Given the description of an element on the screen output the (x, y) to click on. 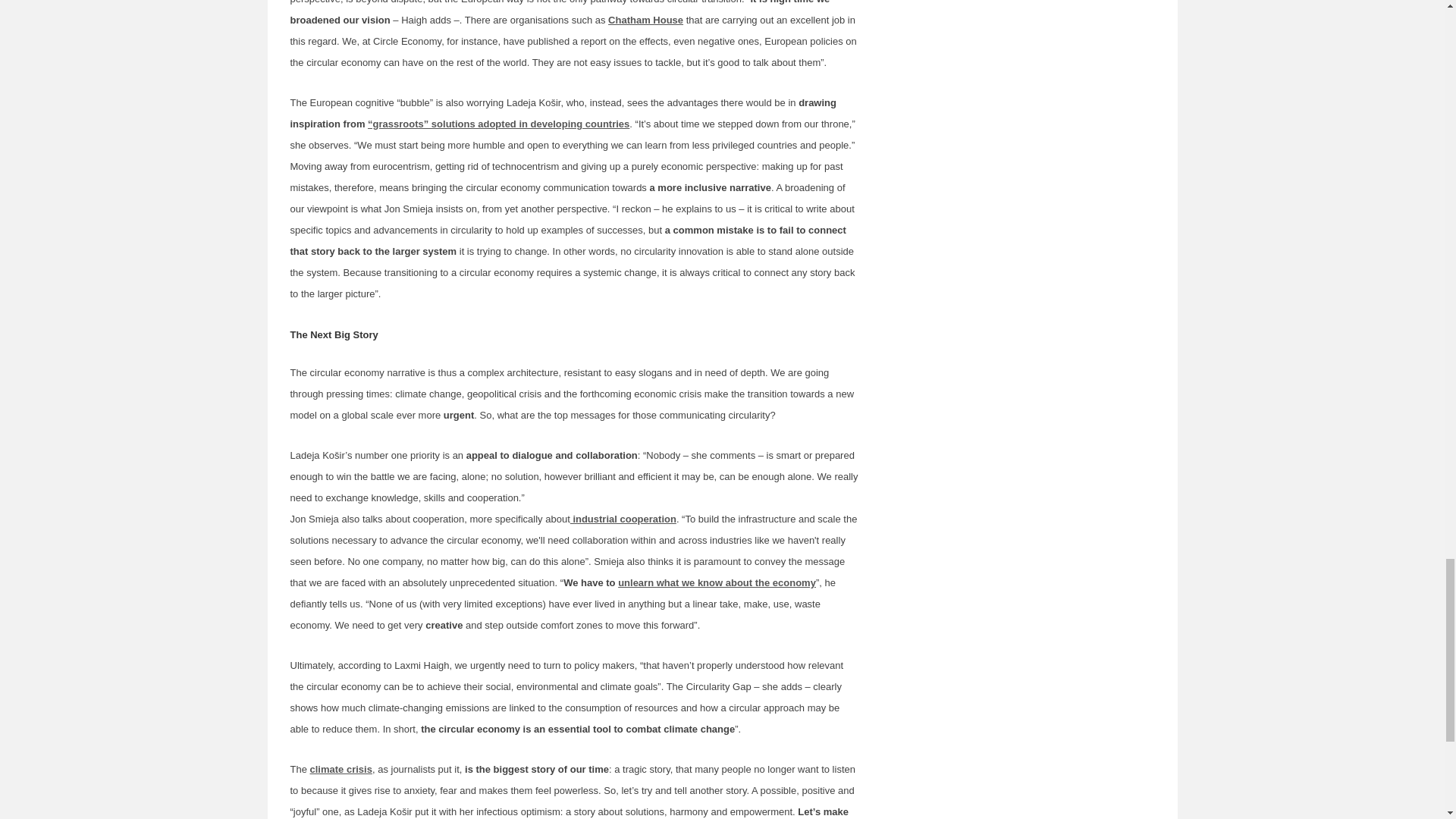
Chatham House (645, 19)
industrial cooperation (623, 518)
climate crisis (341, 768)
unlearn what we know about the economy (716, 582)
